Given the description of an element on the screen output the (x, y) to click on. 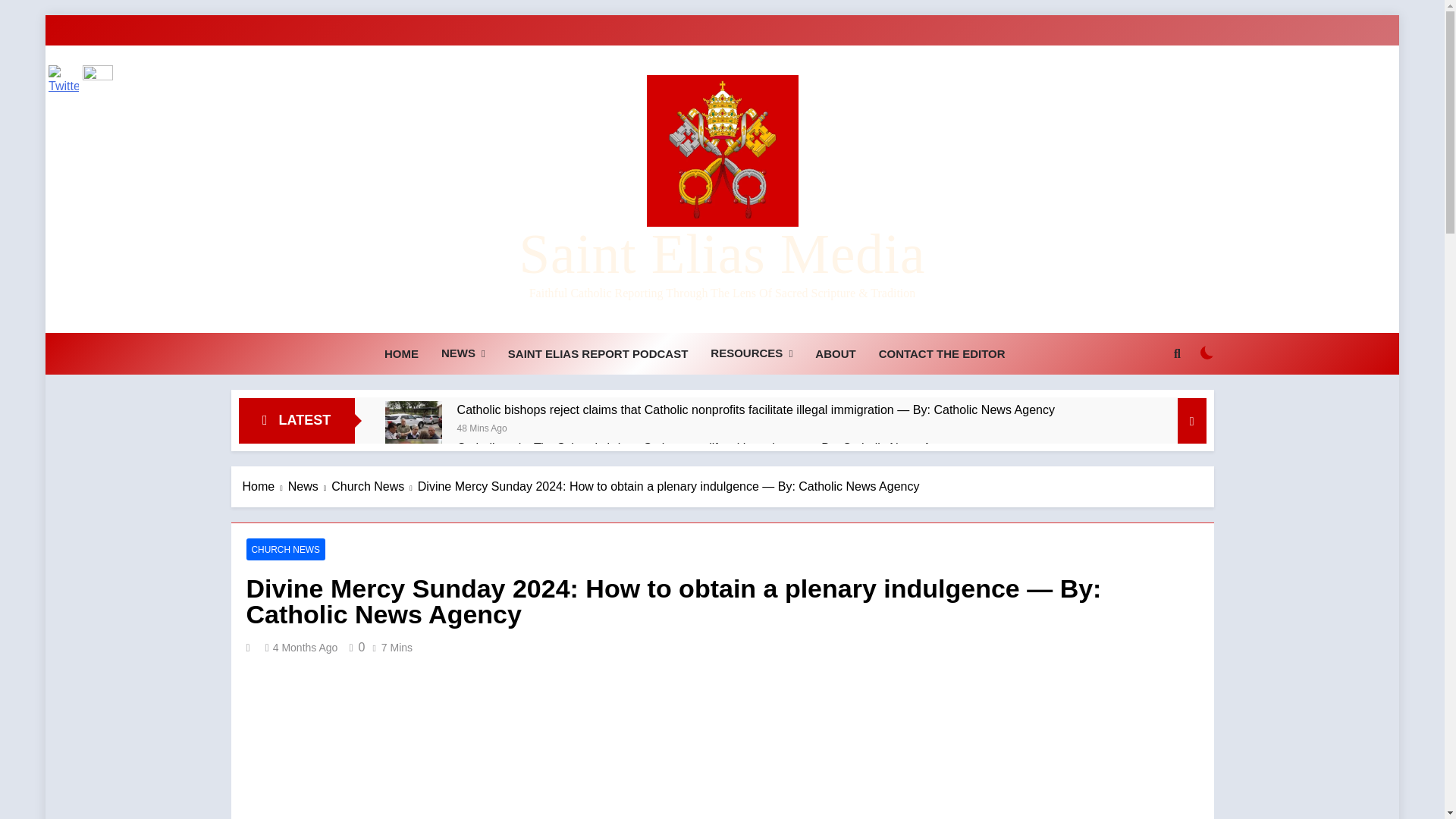
HOME (400, 353)
ABOUT (834, 353)
CONTACT THE EDITOR (941, 353)
48 Mins Ago (481, 427)
RESOURCES (750, 353)
SAINT ELIAS REPORT PODCAST (598, 353)
Saint Elias Media (721, 254)
on (1206, 352)
NEWS (462, 353)
